Given the description of an element on the screen output the (x, y) to click on. 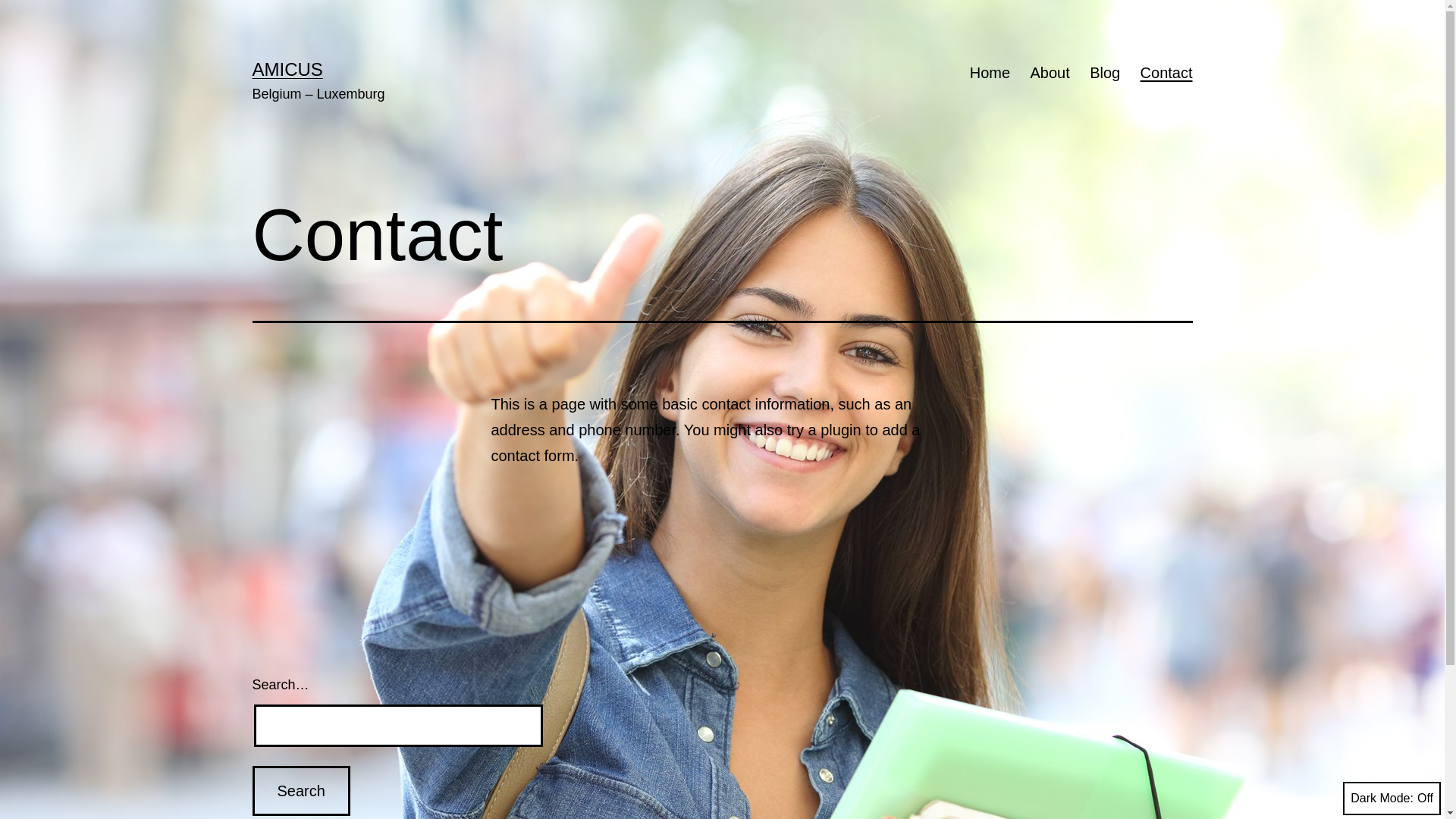
Dark Mode: Element type: text (1391, 798)
About Element type: text (1049, 72)
AMICUS Element type: text (286, 69)
Search Element type: text (300, 790)
Home Element type: text (990, 72)
Contact Element type: text (1165, 72)
Blog Element type: text (1104, 72)
